Given the description of an element on the screen output the (x, y) to click on. 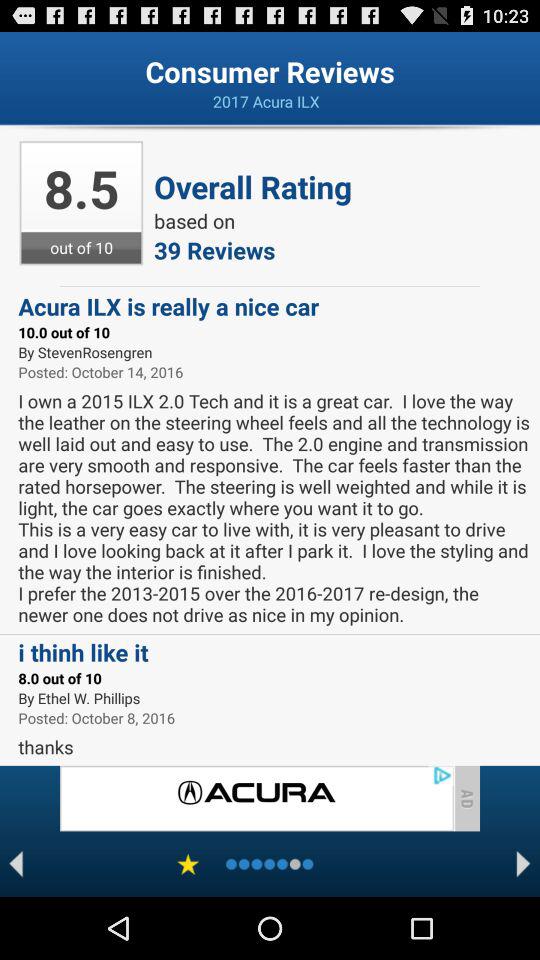
go to previous (16, 864)
